Given the description of an element on the screen output the (x, y) to click on. 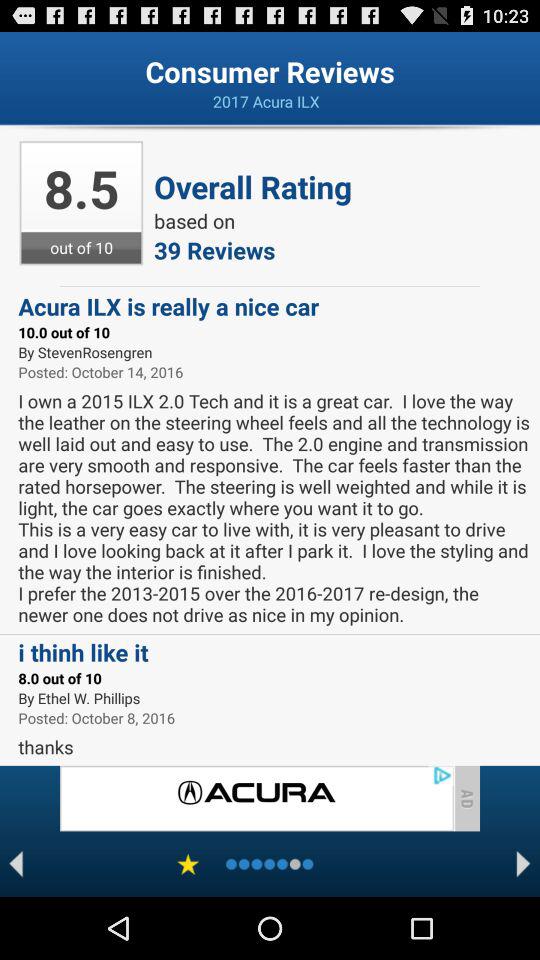
go to previous (16, 864)
